Given the description of an element on the screen output the (x, y) to click on. 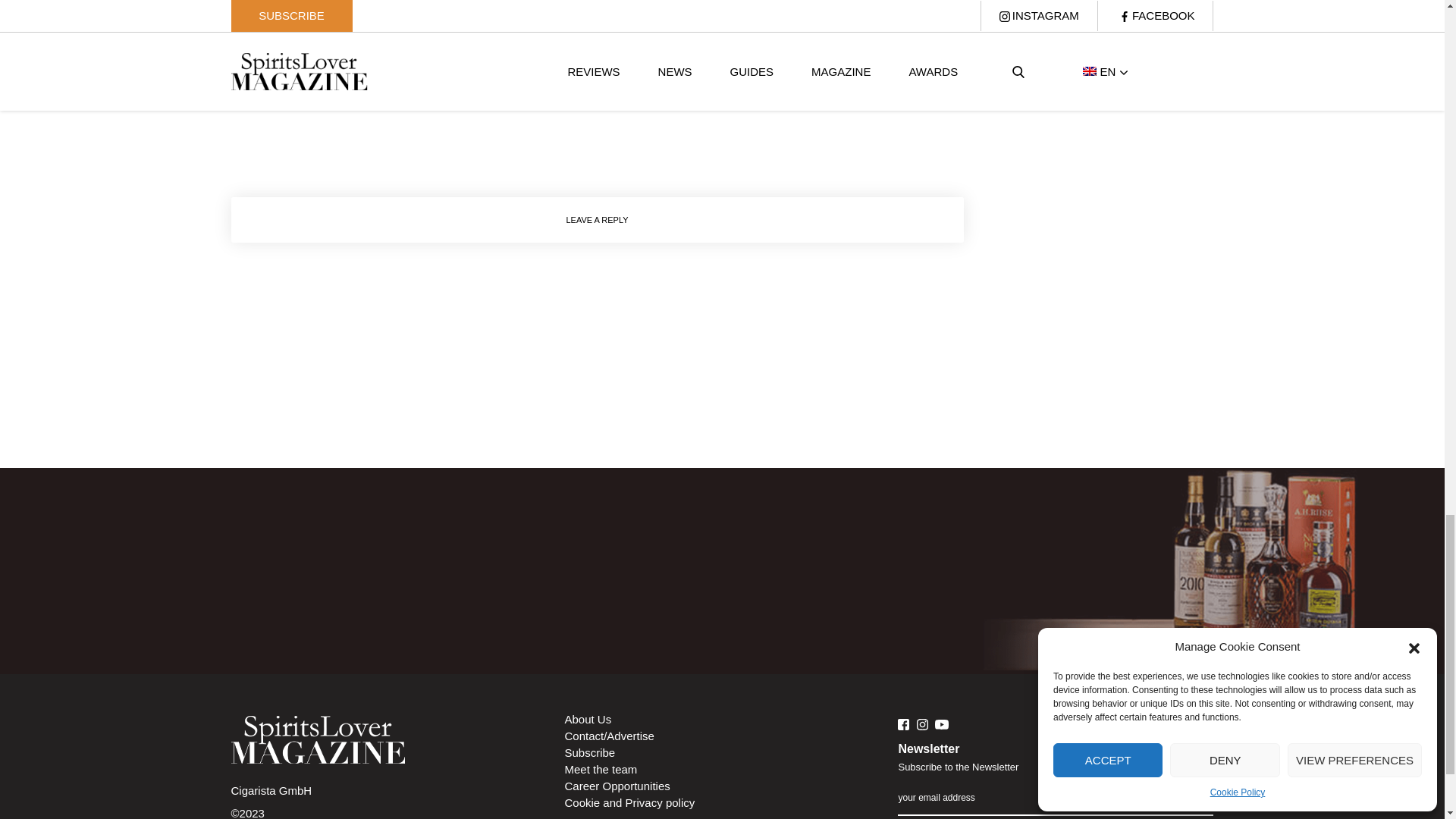
95 (386, 91)
DILLON (600, 91)
RUM (790, 91)
View all posts in Martinique (699, 91)
Send (1194, 789)
MARTINIQUE (699, 91)
View all posts in 95 (386, 91)
View all posts in Dillon (600, 91)
View all posts in Rum (790, 91)
LEAVE A REPLY (596, 219)
